Given the description of an element on the screen output the (x, y) to click on. 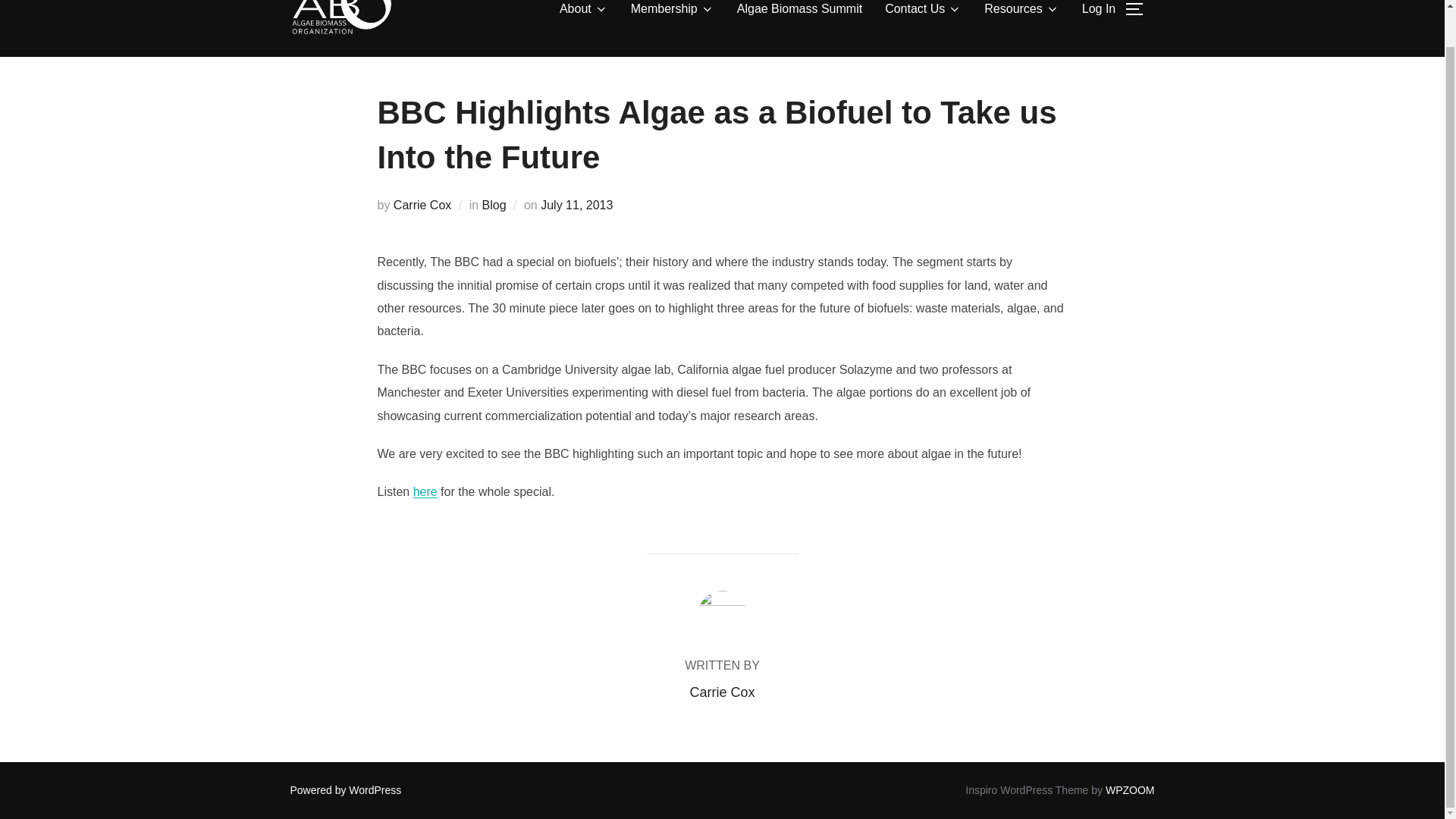
Algae Biomass Summit (798, 11)
Contact Us (922, 11)
Posts by Carrie Cox (721, 692)
About (583, 11)
Resources (1021, 11)
Membership (672, 11)
Log In (1098, 11)
Carrie Cox (422, 205)
